Given the description of an element on the screen output the (x, y) to click on. 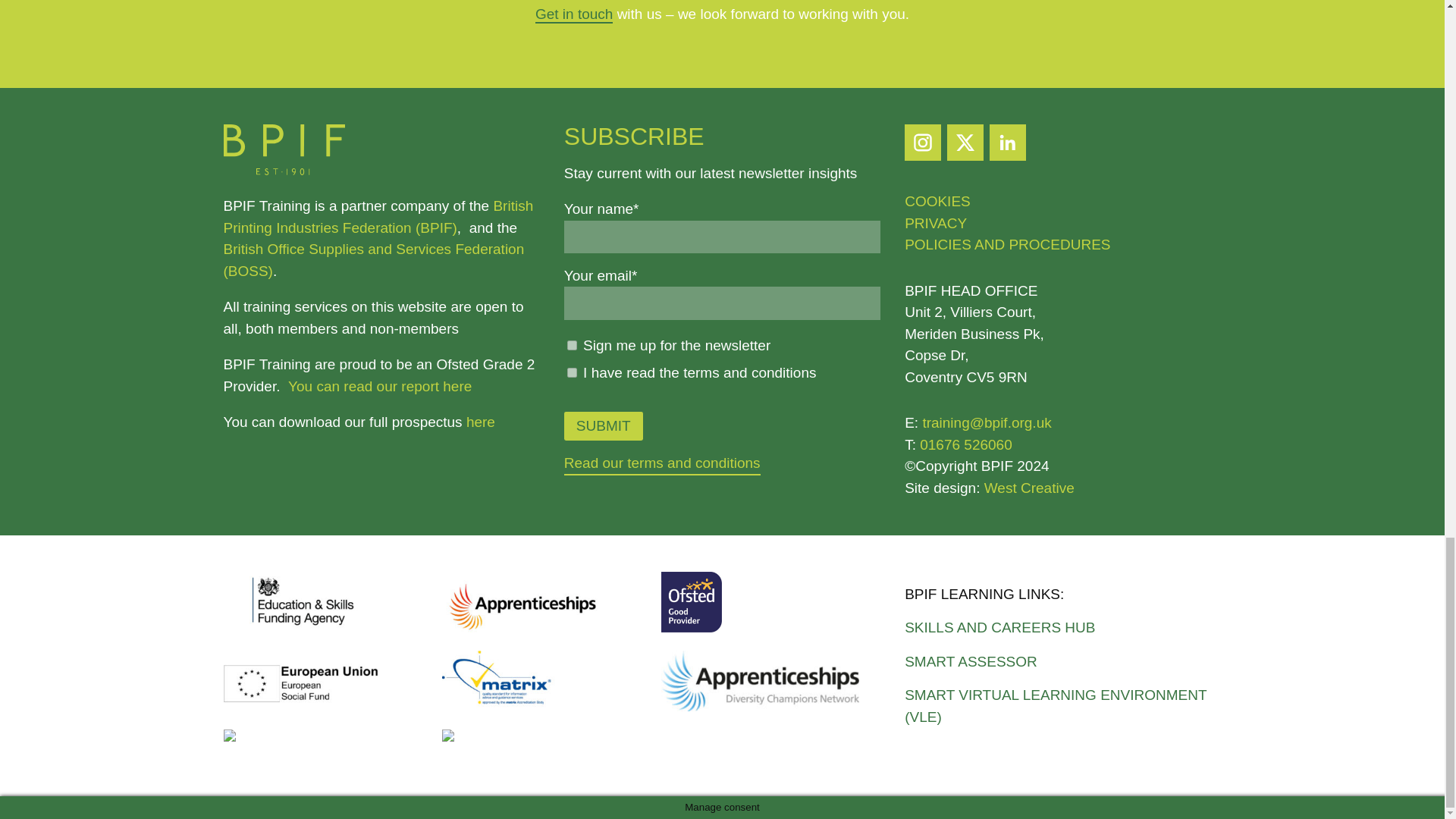
Submit (603, 425)
West Creative (1029, 487)
here (480, 421)
COOKIES (937, 201)
POLICIES AND PROCEDURES (1006, 244)
01676 526060 (965, 444)
PRIVACY (935, 222)
1 (571, 372)
BPIF Training (282, 170)
Read our terms and conditions (662, 463)
